Given the description of an element on the screen output the (x, y) to click on. 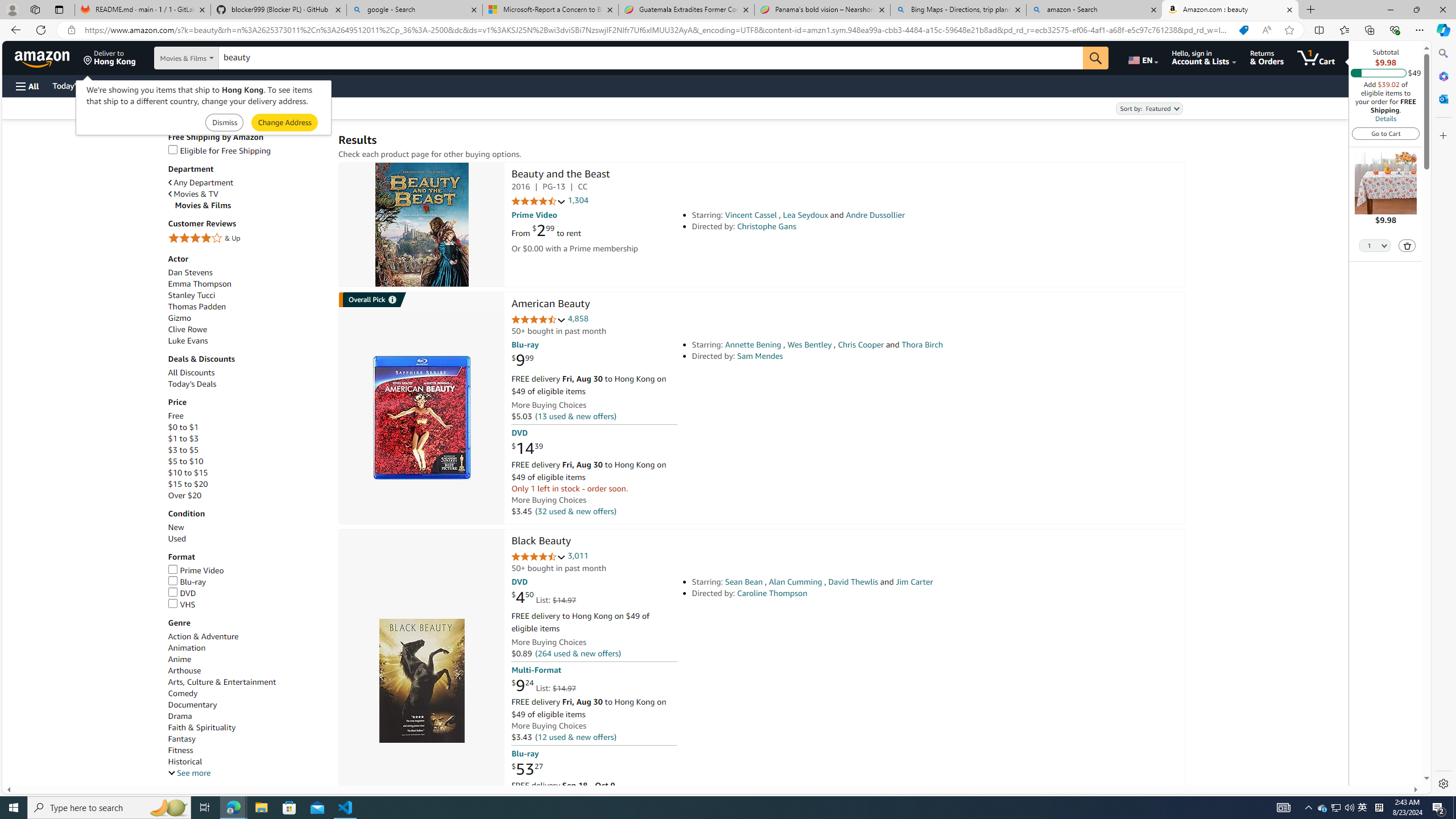
Today's Deals (191, 383)
Sort by: (1148, 108)
American Beauty (550, 304)
Multi-Format (536, 670)
Submit (284, 122)
Black Beauty (541, 541)
Anime (247, 659)
Details (1385, 118)
Sean Bean (743, 581)
Arthouse (247, 670)
